Given the description of an element on the screen output the (x, y) to click on. 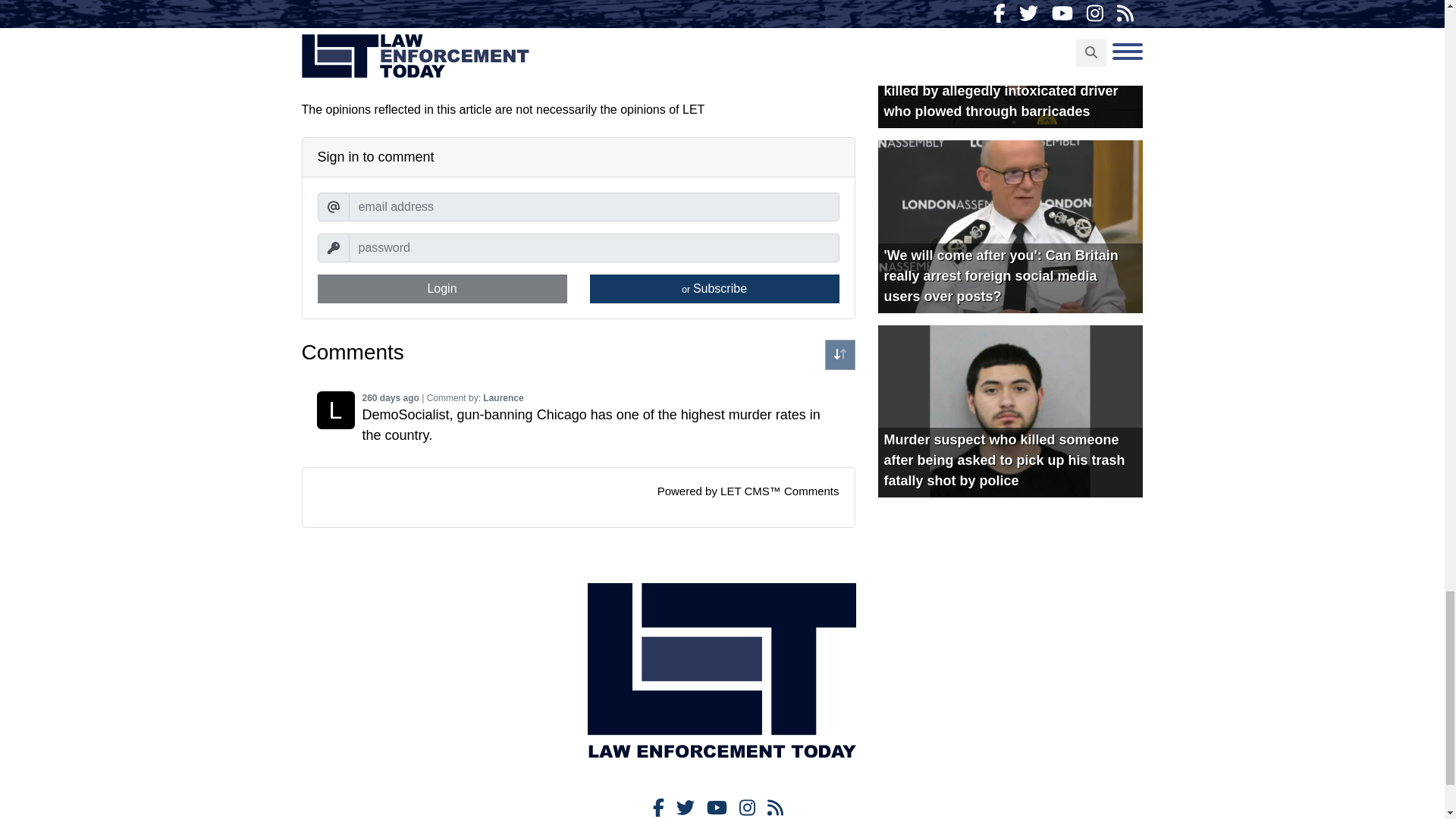
Toggle Order (840, 354)
YouTube (716, 807)
Twitter (685, 807)
